Given the description of an element on the screen output the (x, y) to click on. 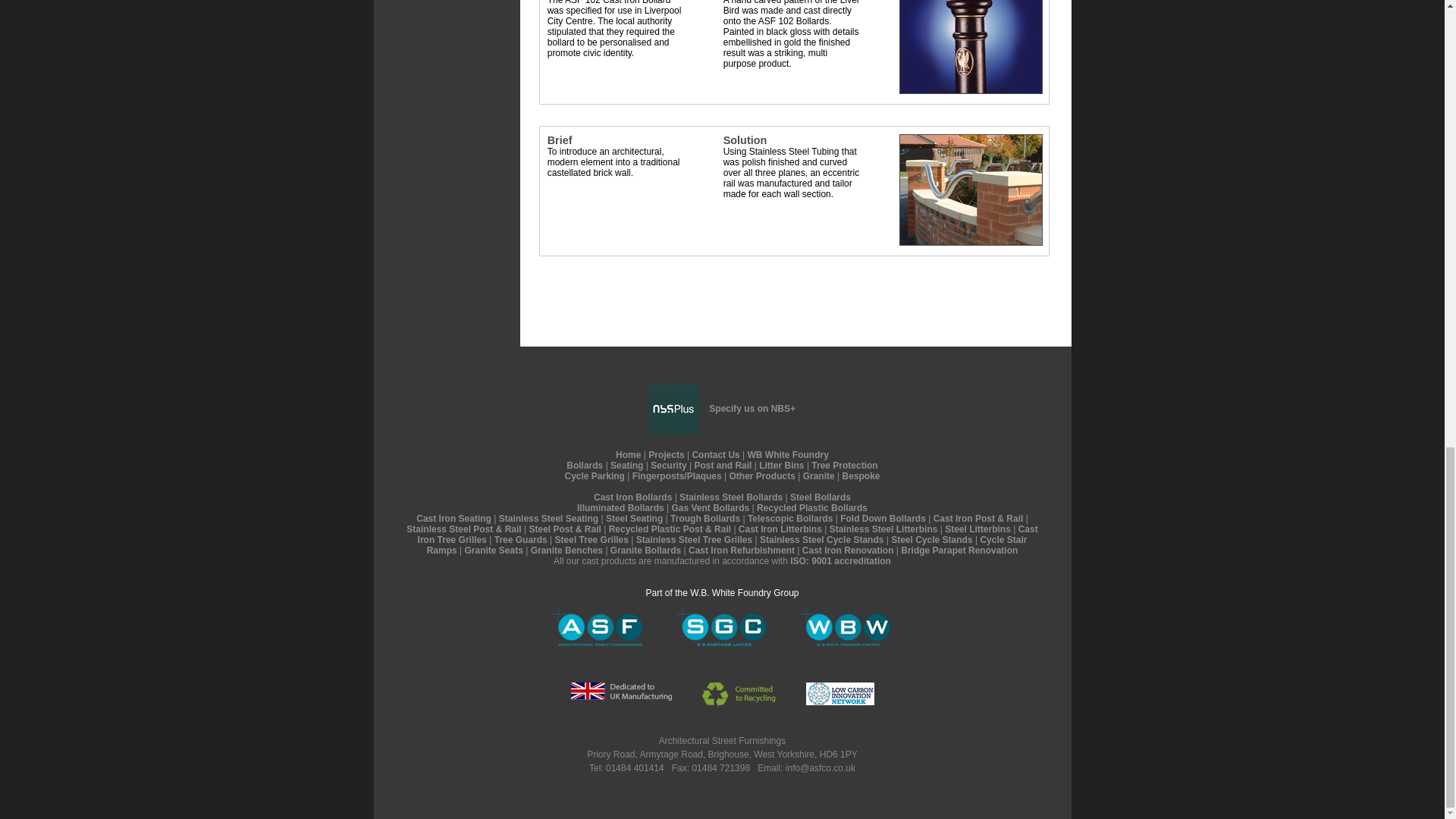
Home (627, 454)
Projects (665, 454)
Contact Us (715, 454)
SG Castings (721, 627)
